Given the description of an element on the screen output the (x, y) to click on. 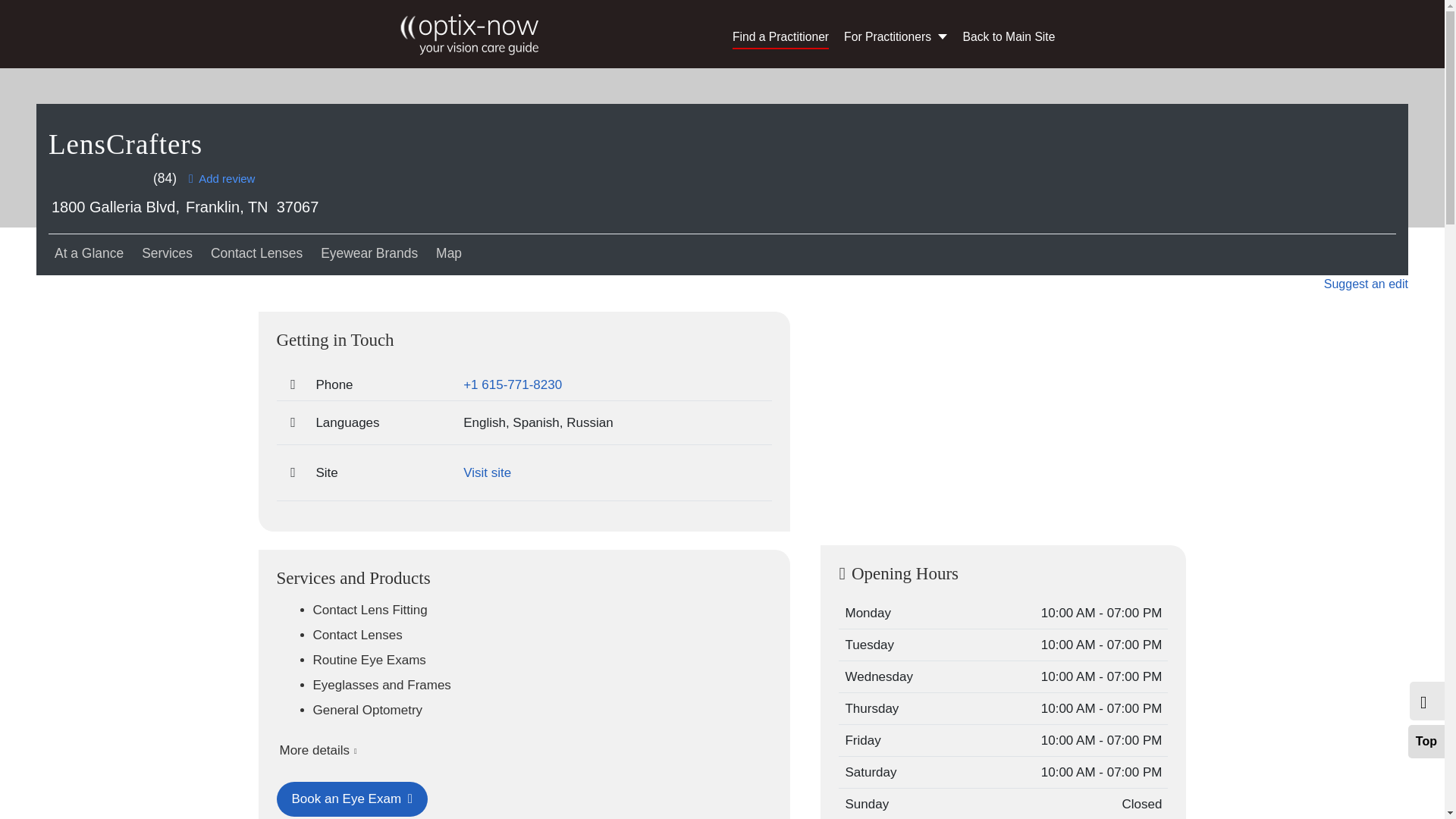
Suggest an edit (1365, 283)
Advertisement (1003, 420)
Find a Practitioner (780, 37)
LensCrafters Website (487, 472)
Services (166, 253)
Book an Eye Exam (352, 799)
Add a review (221, 178)
Add review (221, 178)
Back to Main Site (1008, 37)
Based on 84 rating signals (164, 178)
For Practitioners (895, 37)
Visit site (487, 472)
Optix-now - Your Vision Care Guide (473, 31)
Rated 4.5 out of 5 stars (99, 178)
At a Glance (89, 253)
